Given the description of an element on the screen output the (x, y) to click on. 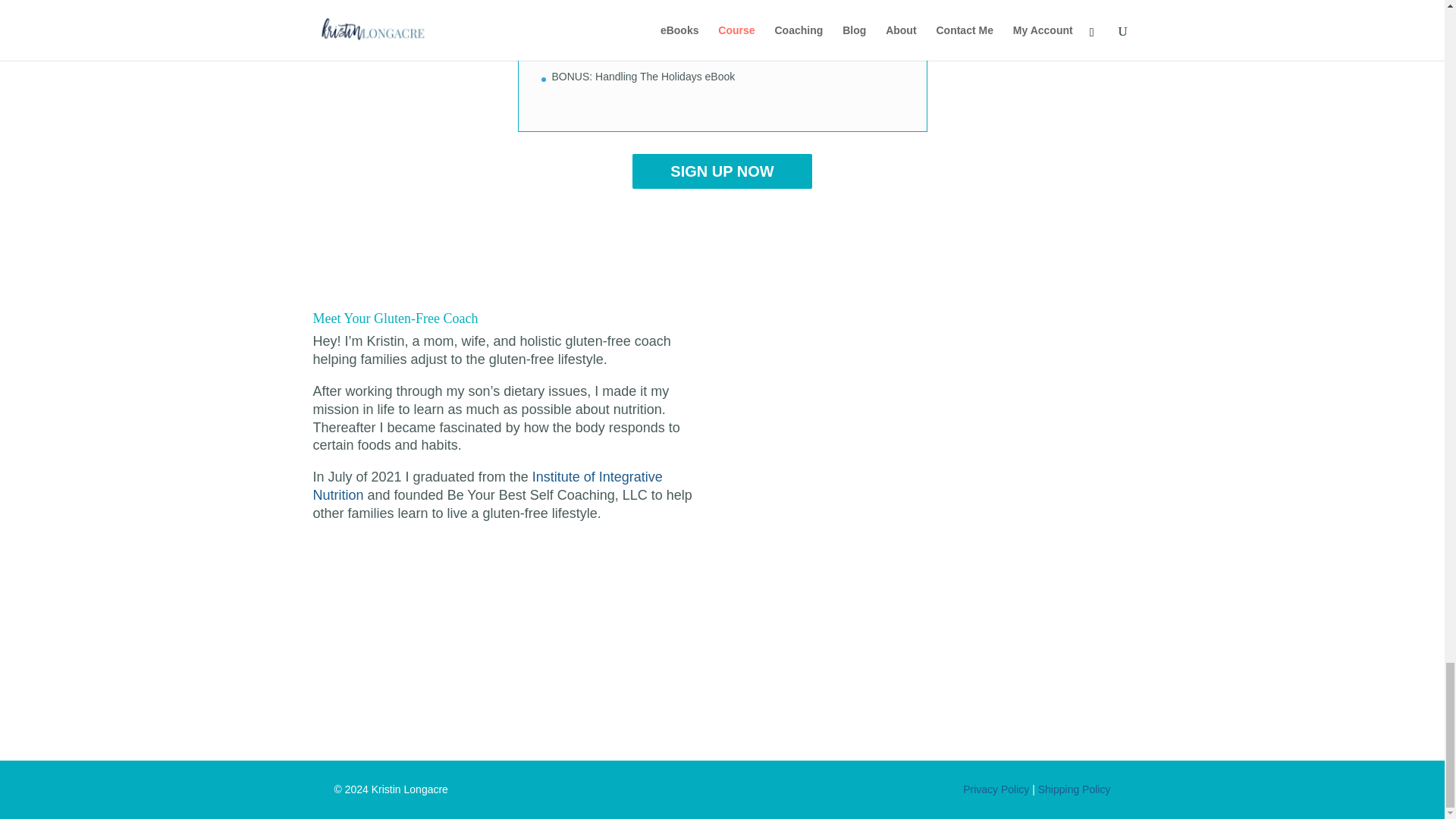
Privacy Policy (995, 788)
SIGN UP NOW (720, 171)
Shipping Policy (1074, 788)
Institute of Integrative Nutrition (487, 485)
